Given the description of an element on the screen output the (x, y) to click on. 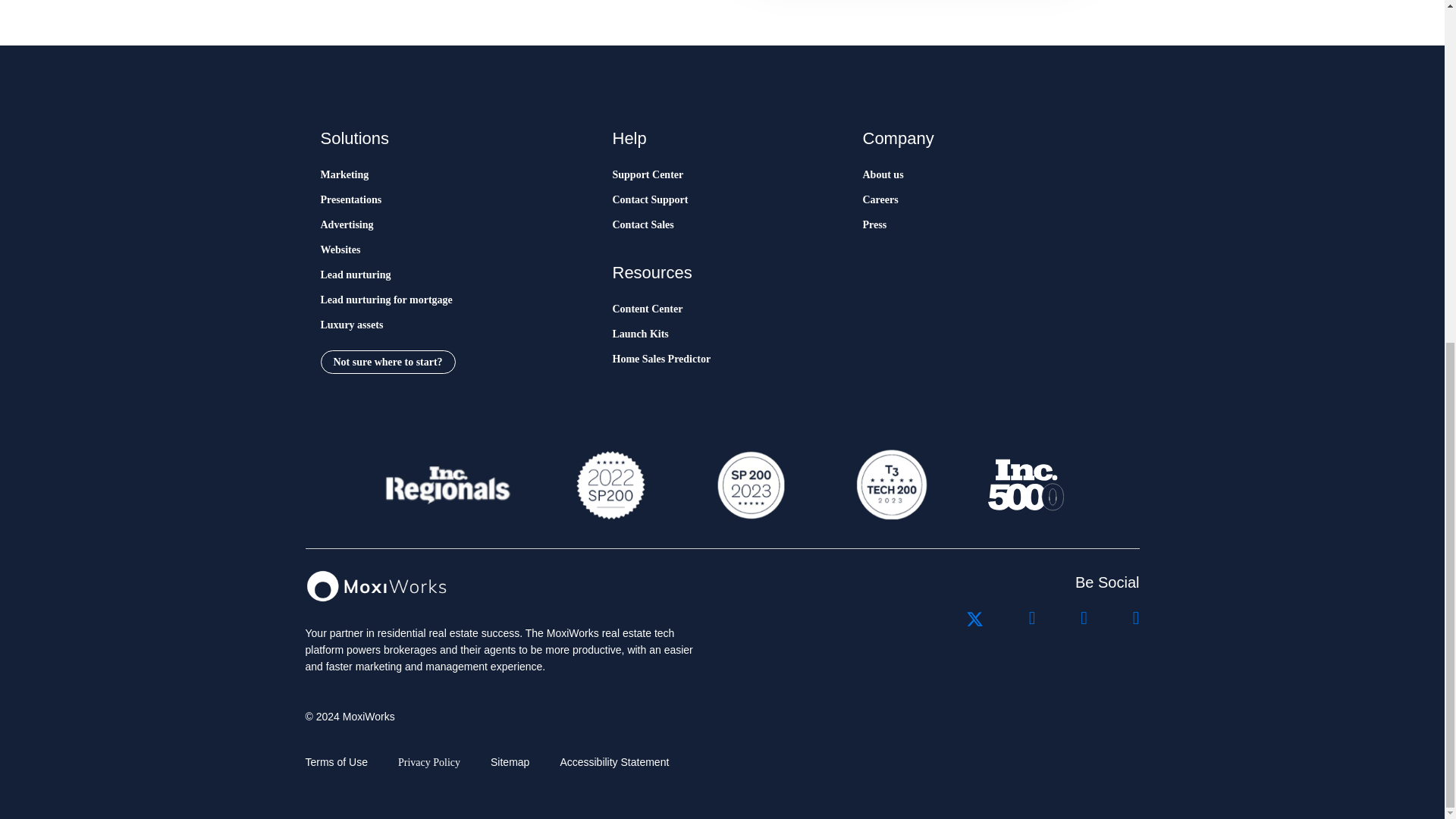
T3 tech 200 2023 (890, 484)
SP 2023 (749, 484)
SP 2022 (610, 484)
